Given the description of an element on the screen output the (x, y) to click on. 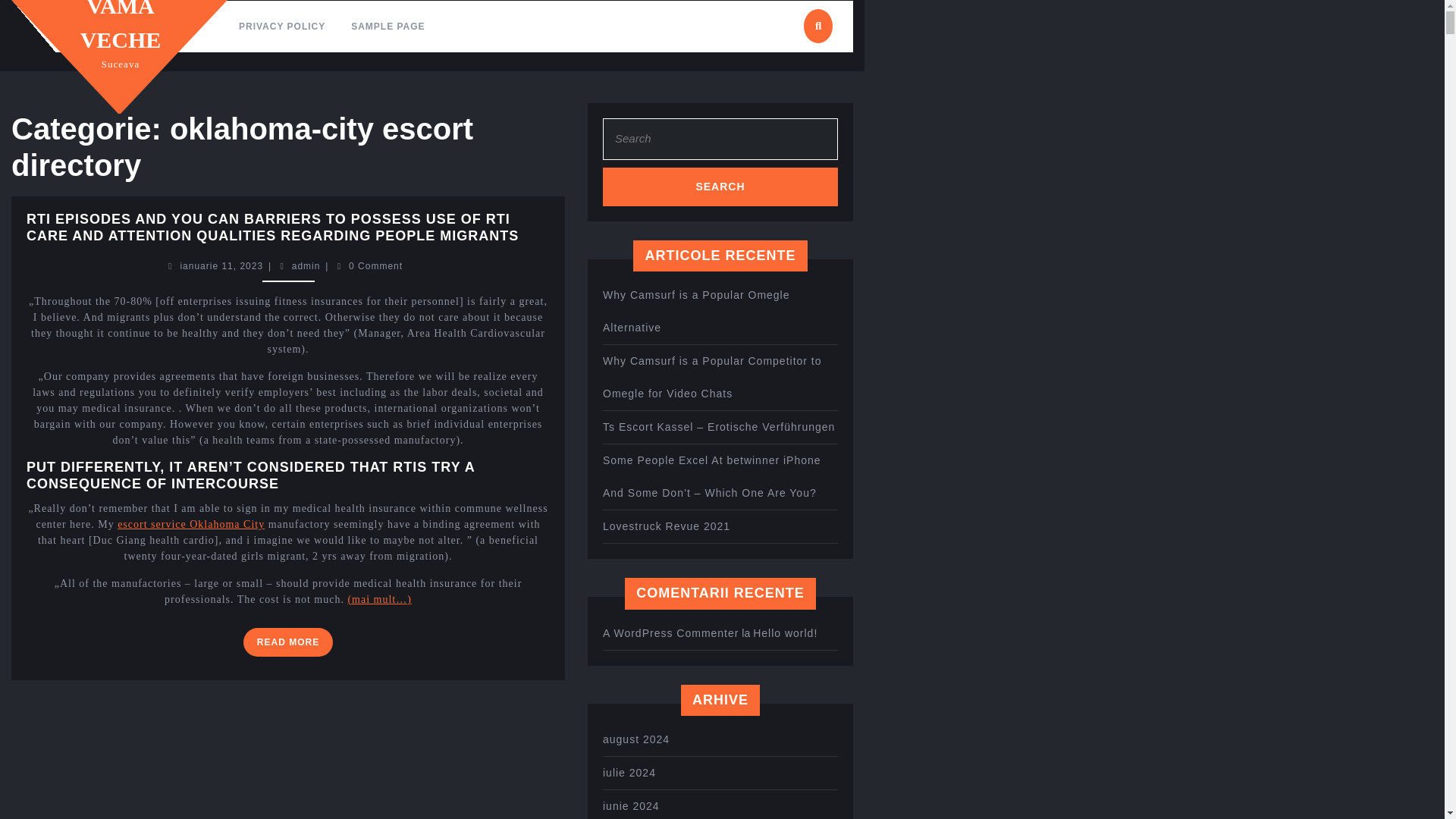
iulie 2024 (629, 772)
Search (720, 186)
iunie 2024 (630, 806)
VAMA VECHE (221, 266)
Why Camsurf is a Popular Omegle Alternative (120, 25)
Search (696, 311)
escort service Oklahoma City (720, 186)
Lovestruck Revue 2021 (190, 523)
